Given the description of an element on the screen output the (x, y) to click on. 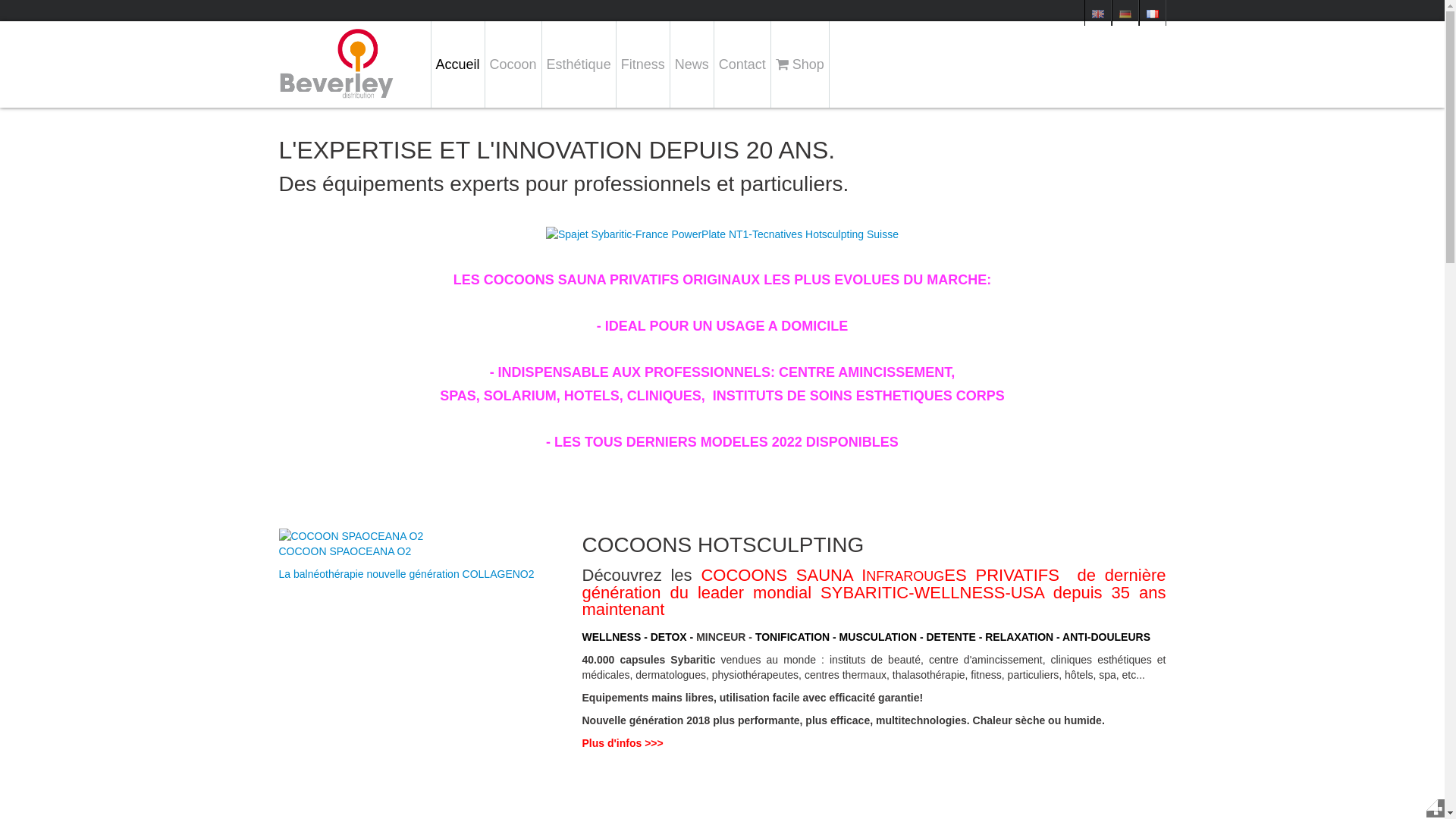
Contact Element type: text (741, 64)
Shop Element type: text (799, 64)
Plus d'infos >>> Element type: text (622, 743)
News Element type: text (691, 64)
Accueil Element type: text (457, 64)
Fitness Element type: text (642, 64)
Cocoon Element type: text (512, 64)
